Given the description of an element on the screen output the (x, y) to click on. 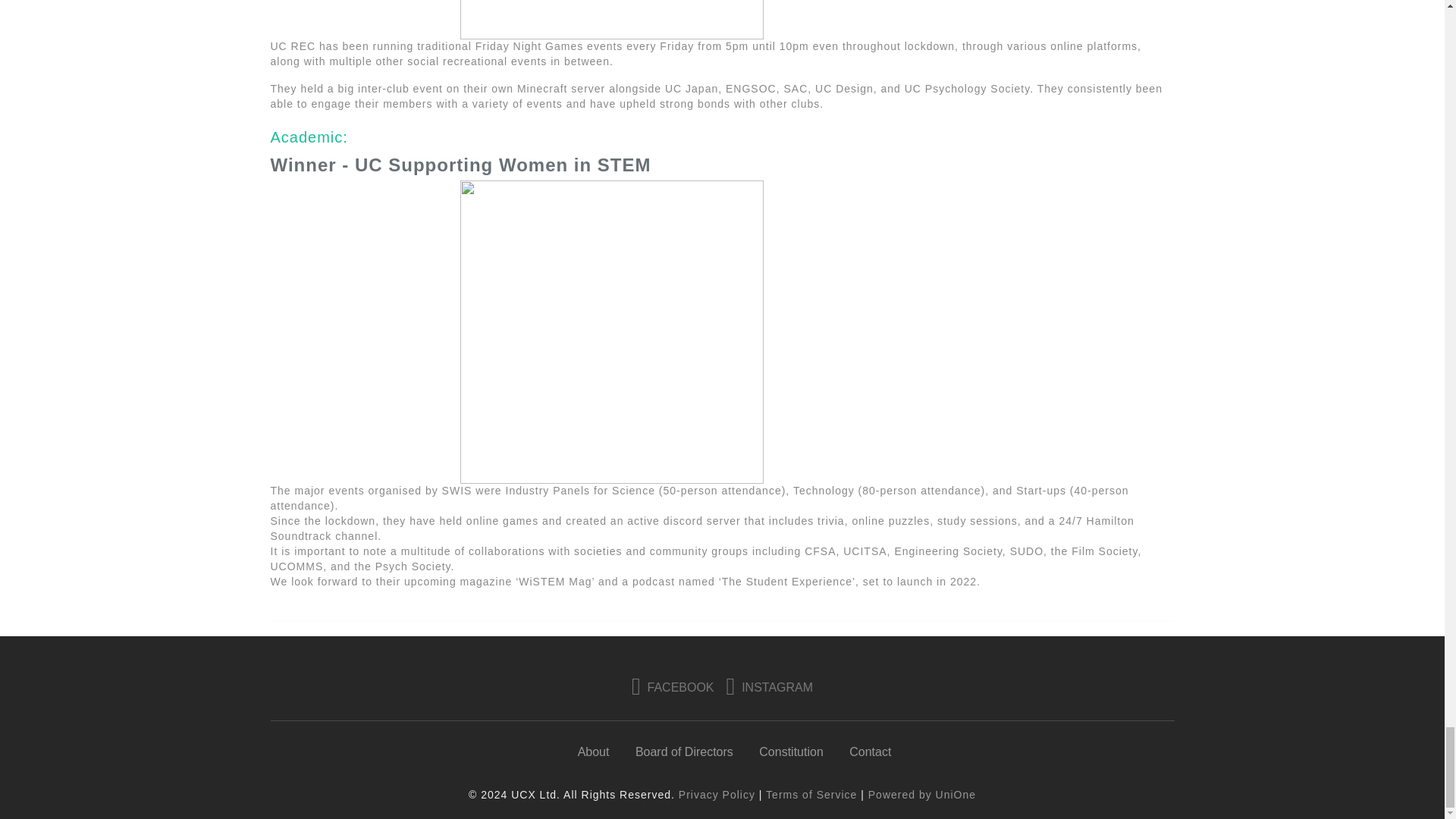
About (594, 751)
Terms of Service (811, 794)
INSTAGRAM (769, 686)
Powered by UniOne (921, 794)
Constitution (791, 751)
Board of Directors (683, 751)
Contact (869, 751)
Privacy Policy (716, 794)
FACEBOOK (672, 686)
